Given the description of an element on the screen output the (x, y) to click on. 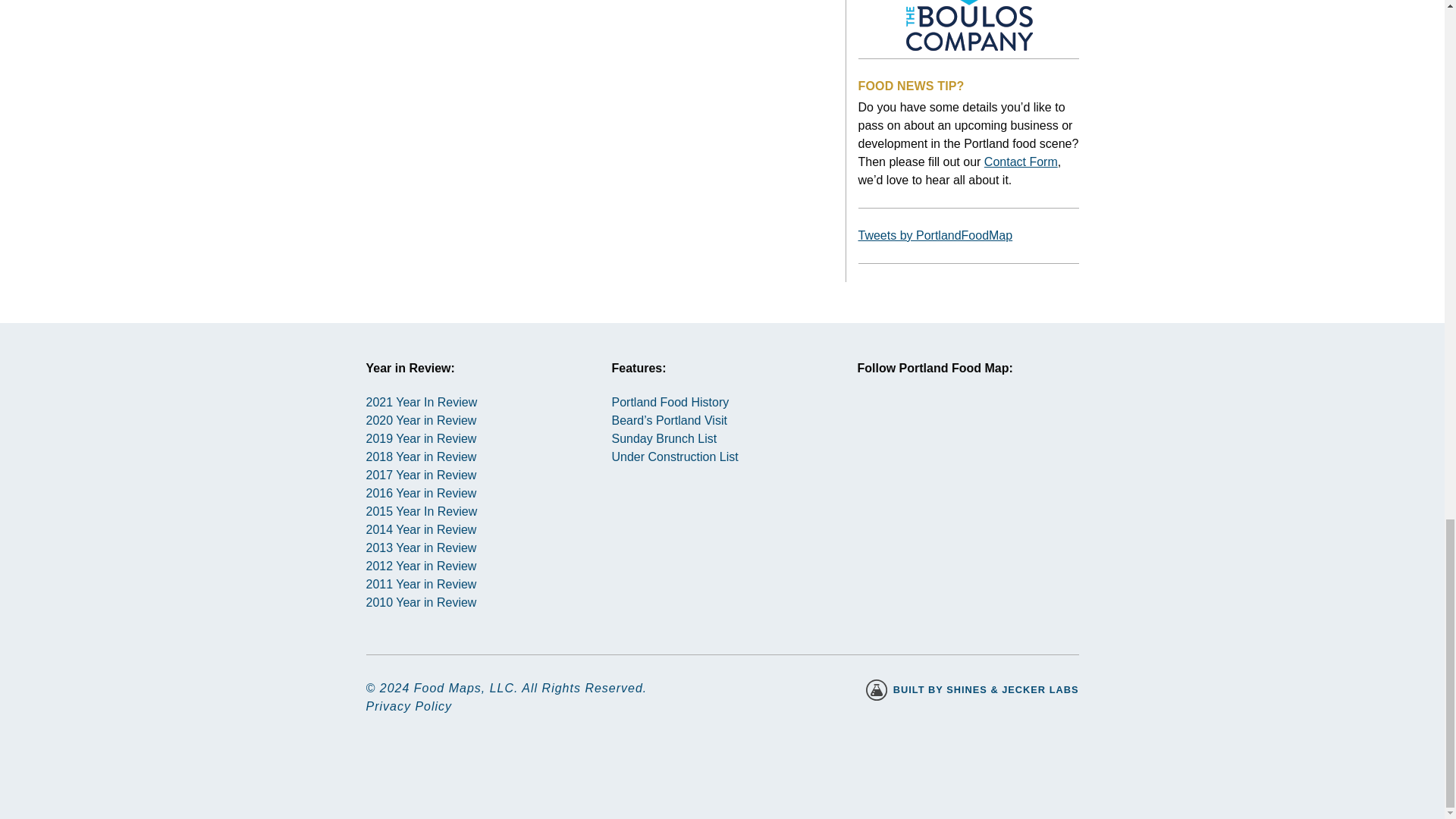
Twitter icon (938, 427)
Instagram icon (882, 427)
RSS icon (992, 427)
